Given the description of an element on the screen output the (x, y) to click on. 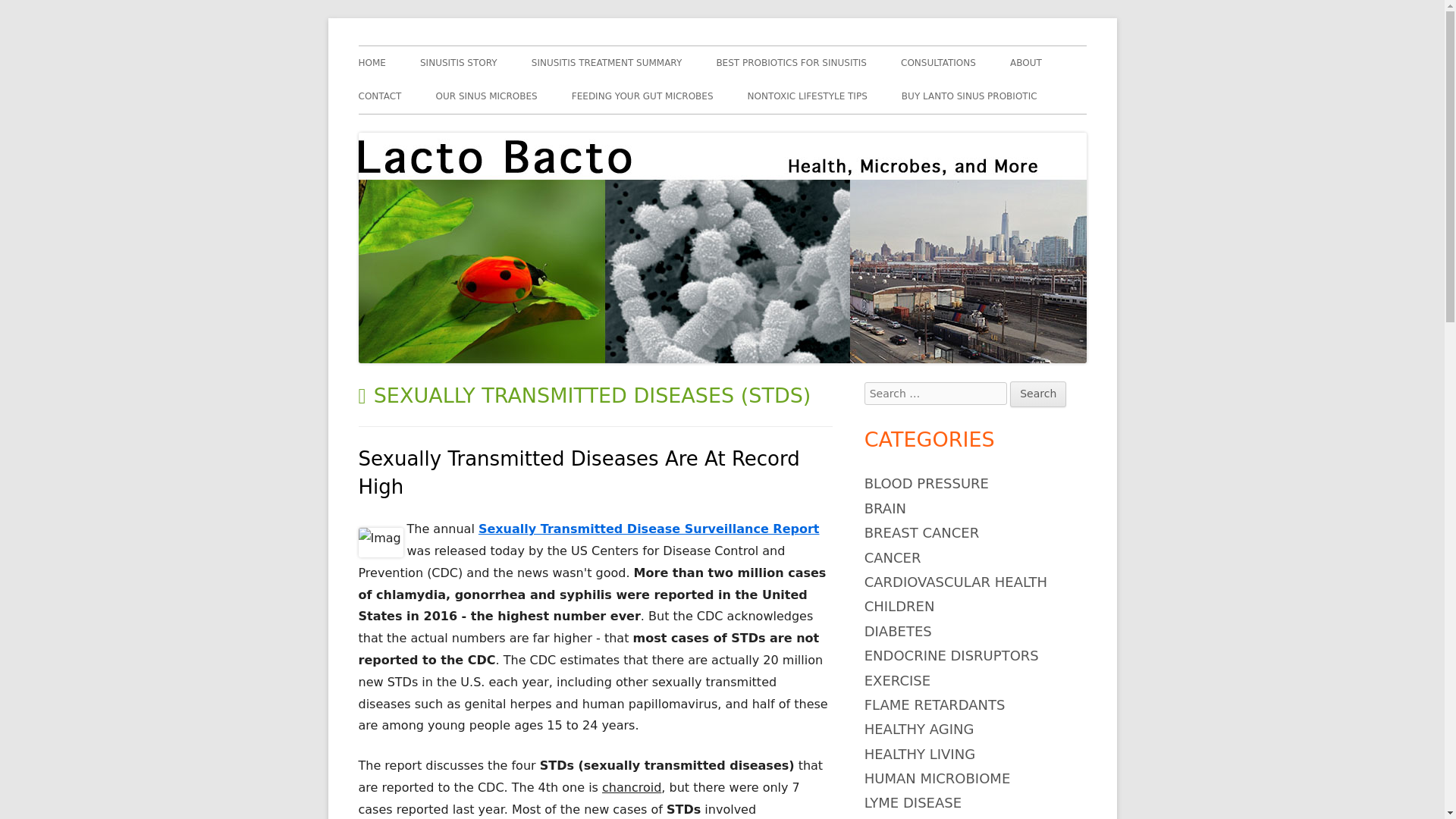
ENDOCRINE DISRUPTORS (951, 655)
CARDIOVASCULAR HEALTH (955, 581)
SINUSITIS TREATMENT SUMMARY (606, 62)
Sexually Transmitted Disease Surveillance Report (649, 528)
CONTACT (379, 96)
CHILDREN (899, 606)
Search (1037, 394)
SINUSITIS STORY (458, 62)
Search (1037, 394)
BUY LANTO SINUS PROBIOTIC (968, 96)
ABOUT (1026, 62)
OUR SINUS MICROBES (486, 96)
BRAIN (884, 508)
NONTOXIC LIFESTYLE TIPS (807, 96)
CONSULTATIONS (938, 62)
